Given the description of an element on the screen output the (x, y) to click on. 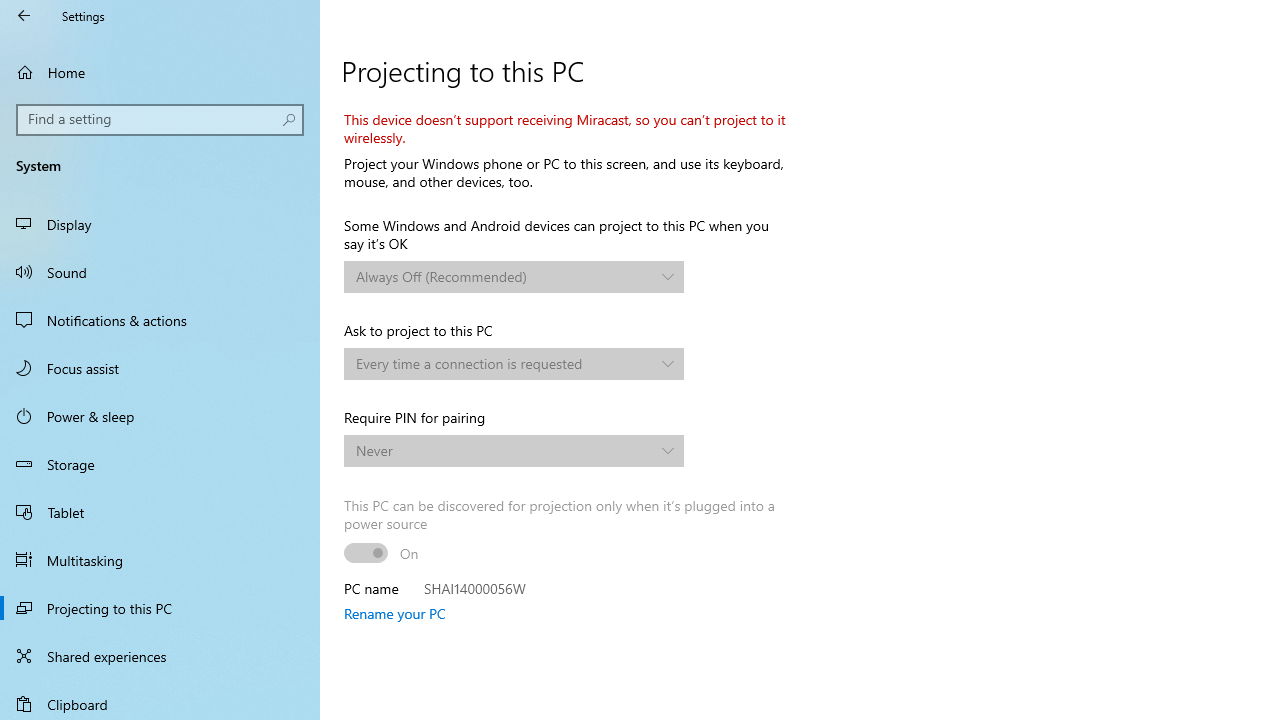
Notifications & actions (160, 319)
Always Off (Recommended) (503, 276)
Never (503, 450)
Sound (160, 271)
Focus assist (160, 367)
Multitasking (160, 559)
